Given the description of an element on the screen output the (x, y) to click on. 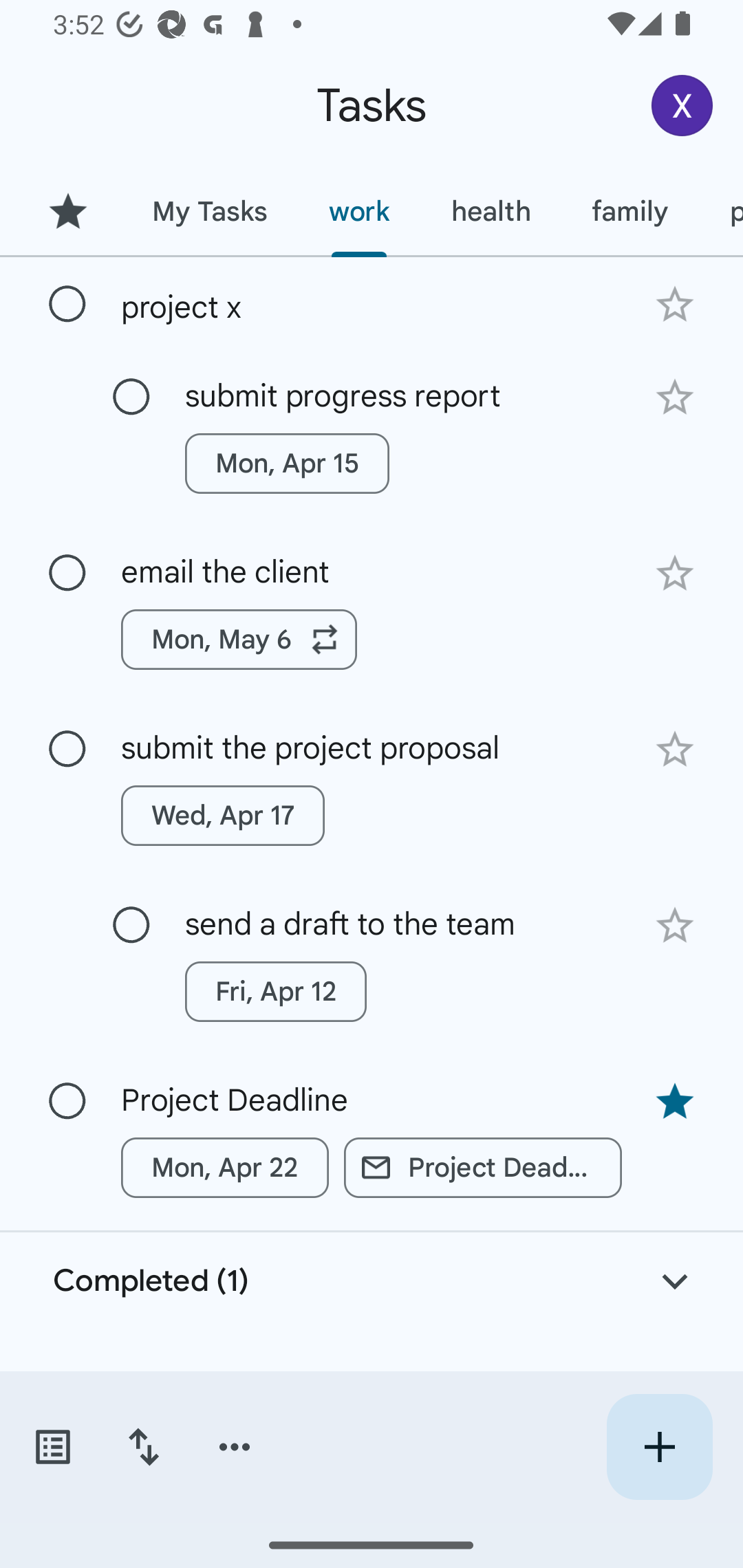
Starred (67, 211)
My Tasks (209, 211)
health (490, 211)
family (629, 211)
Add star (674, 303)
Mark as complete (67, 304)
Add star (674, 397)
Mark as complete (131, 397)
Mon, Apr 15 (287, 463)
Add star (674, 573)
Mark as complete (67, 572)
Mon, May 6 (239, 639)
Add star (674, 749)
Mark as complete (67, 750)
Wed, Apr 17 (222, 814)
Add star (674, 924)
Mark as complete (131, 925)
Fri, Apr 12 (276, 991)
Remove star (674, 1101)
Mark as complete (67, 1101)
Mon, Apr 22 (225, 1167)
Project Deadline Related link (482, 1167)
Completed (1) (371, 1281)
Switch task lists (52, 1447)
Create new task (659, 1446)
Change sort order (143, 1446)
More options (234, 1446)
